Given the description of an element on the screen output the (x, y) to click on. 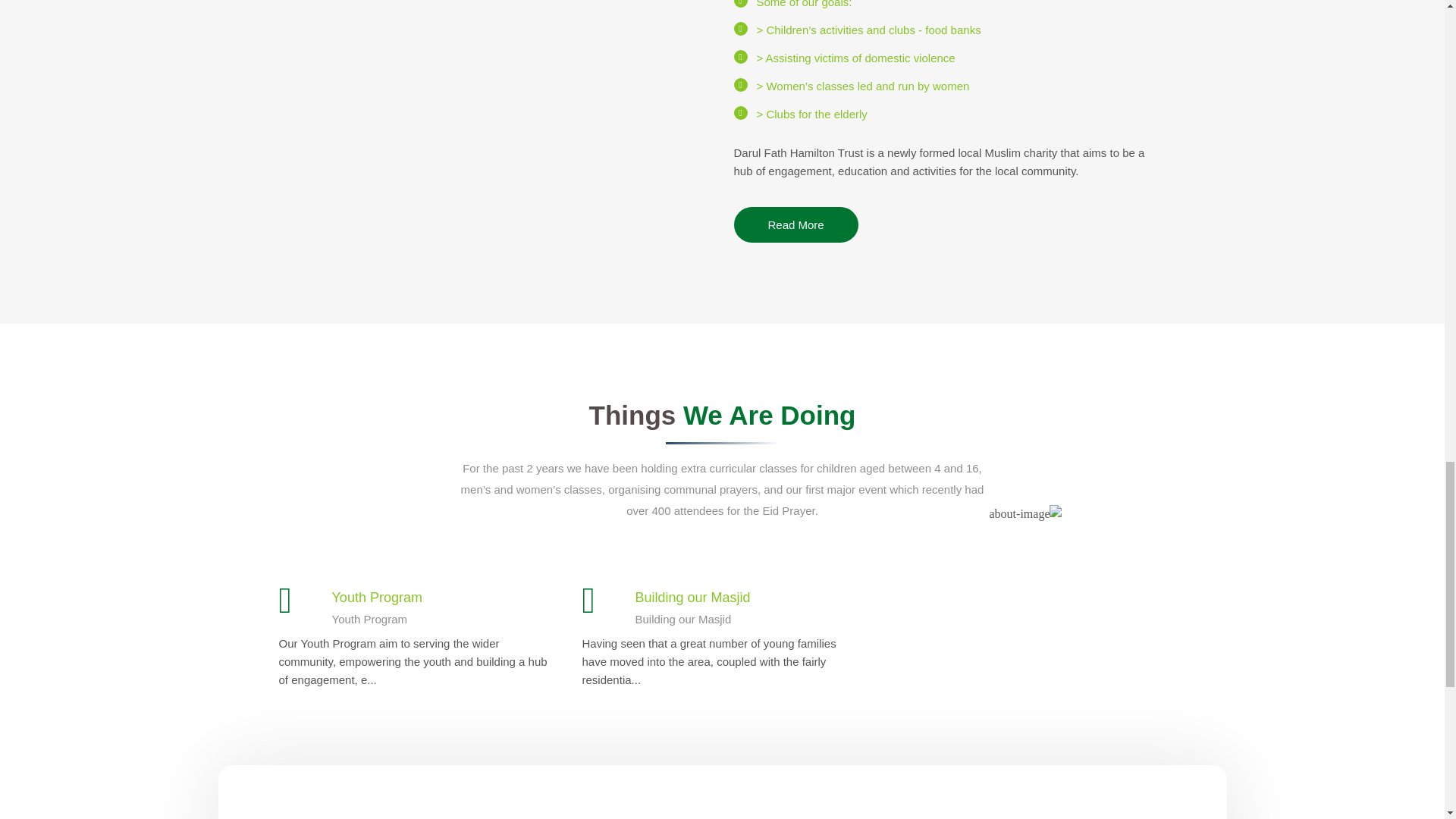
Read More (796, 224)
